Given the description of an element on the screen output the (x, y) to click on. 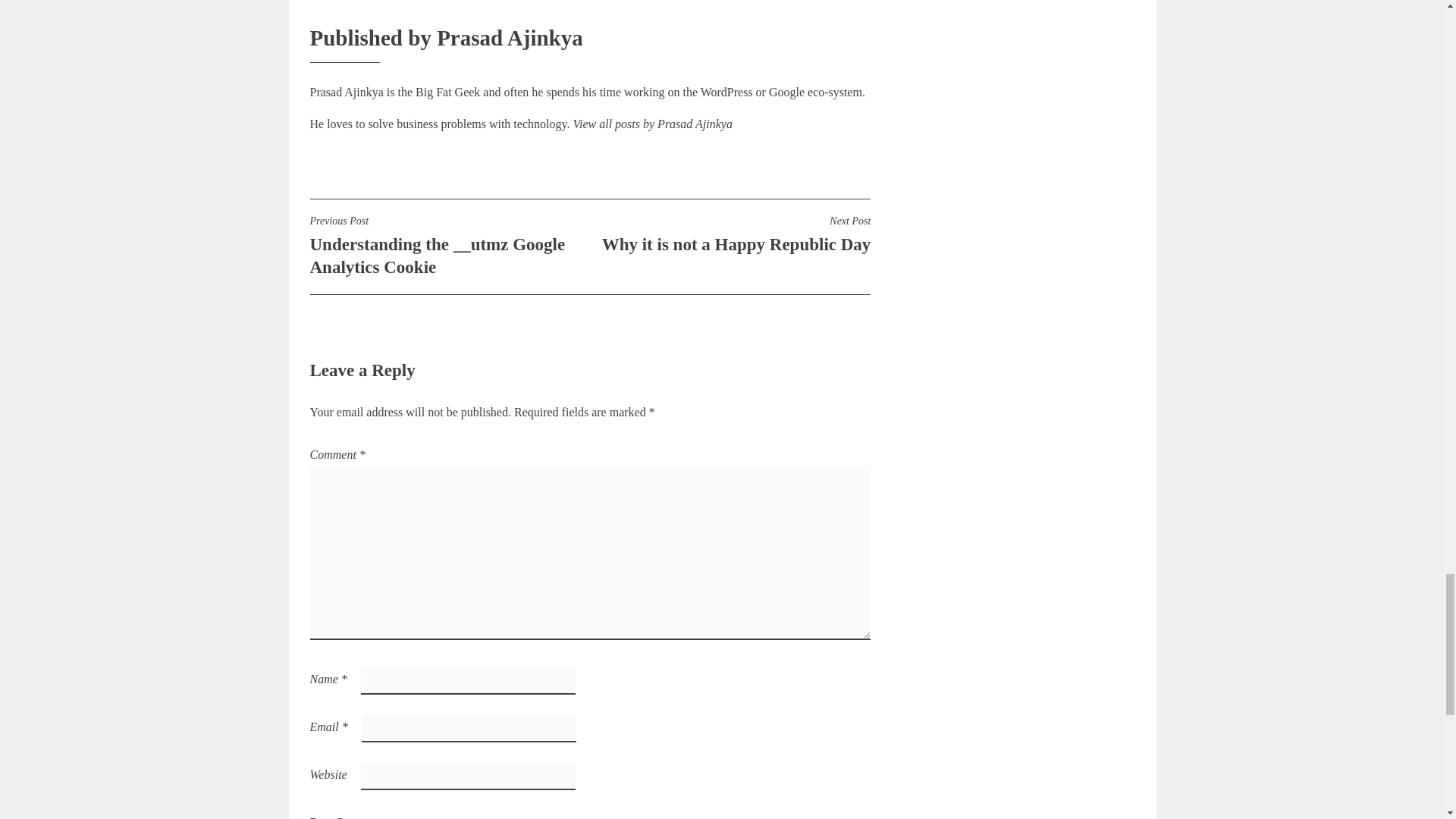
Post Comment (729, 233)
View all posts by Prasad Ajinkya (346, 814)
